Given the description of an element on the screen output the (x, y) to click on. 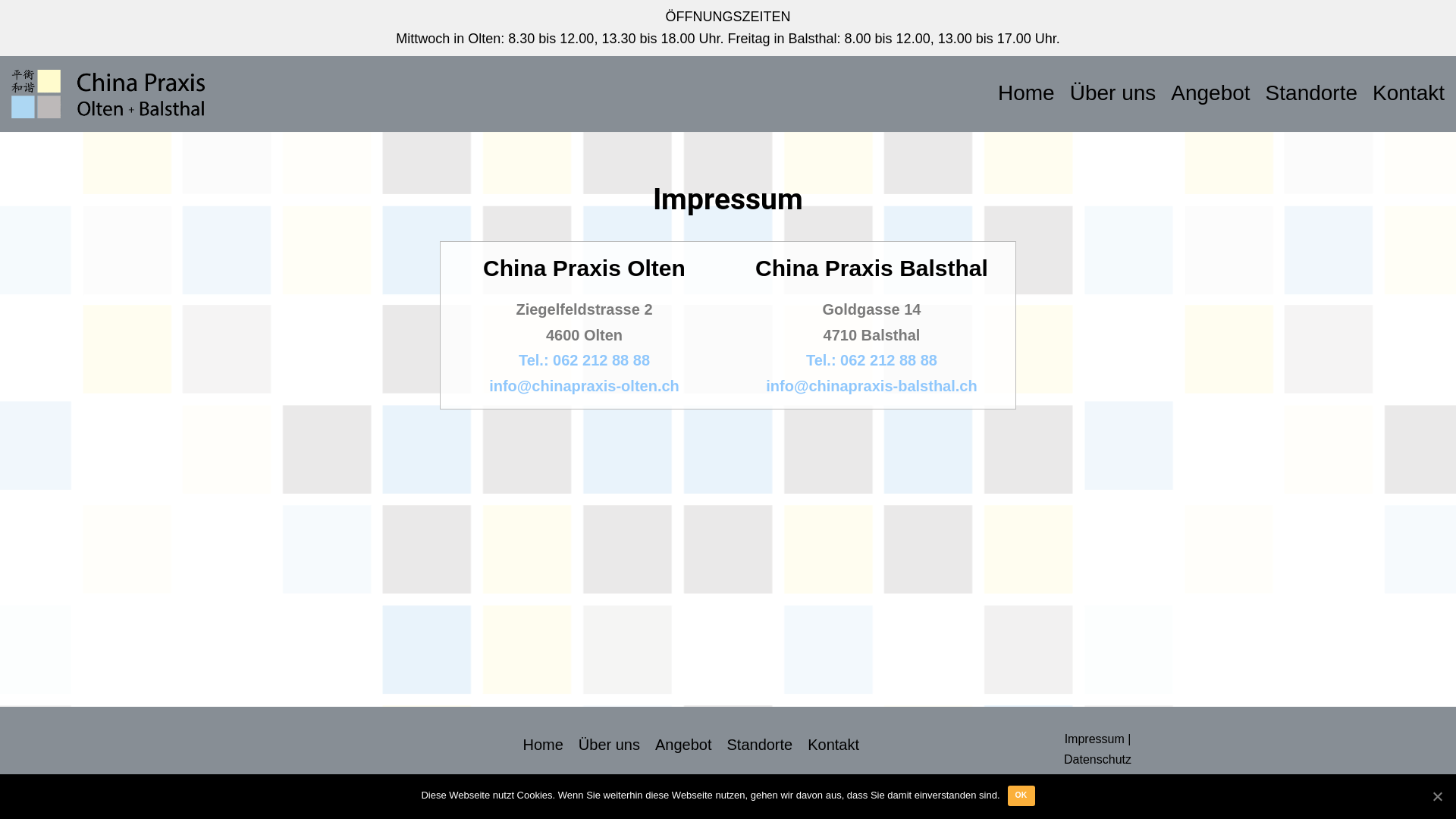
Tel.: 062 212 88 88 Element type: text (871, 359)
Mac- und PC-Support Element type: text (825, 800)
Tel.: 062 212 88 88 Element type: text (583, 359)
Datenschutz Element type: text (1097, 758)
Angebot Element type: text (683, 744)
China Praxis Olten Balsthal Element type: hover (107, 93)
Zum Inhalt Element type: text (15, 31)
Home Element type: text (1025, 93)
Standorte Element type: text (1311, 93)
Vital Media Design Element type: text (677, 800)
Kontakt Element type: text (1408, 93)
OK Element type: text (1020, 795)
Impressum Element type: text (1094, 738)
info@chinapraxis-balsthal.ch Element type: text (870, 385)
Home Element type: text (542, 744)
Standorte Element type: text (759, 744)
Angebot Element type: text (1209, 93)
Kontakt Element type: text (833, 744)
info@chinapraxis-olten.ch Element type: text (584, 385)
